Given the description of an element on the screen output the (x, y) to click on. 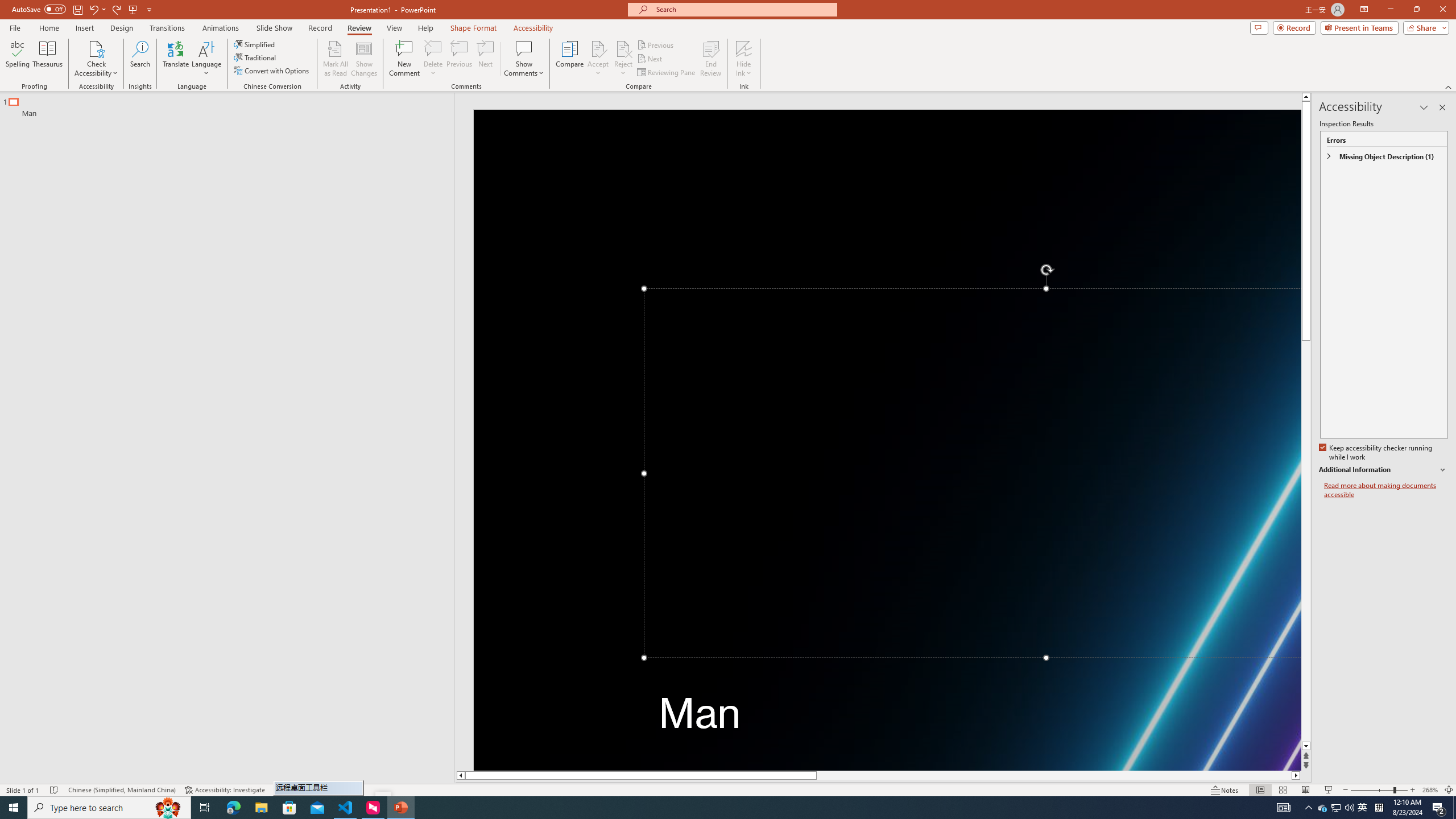
Mark All as Read (335, 58)
Decorative Locked (887, 439)
Show Changes (363, 58)
